Given the description of an element on the screen output the (x, y) to click on. 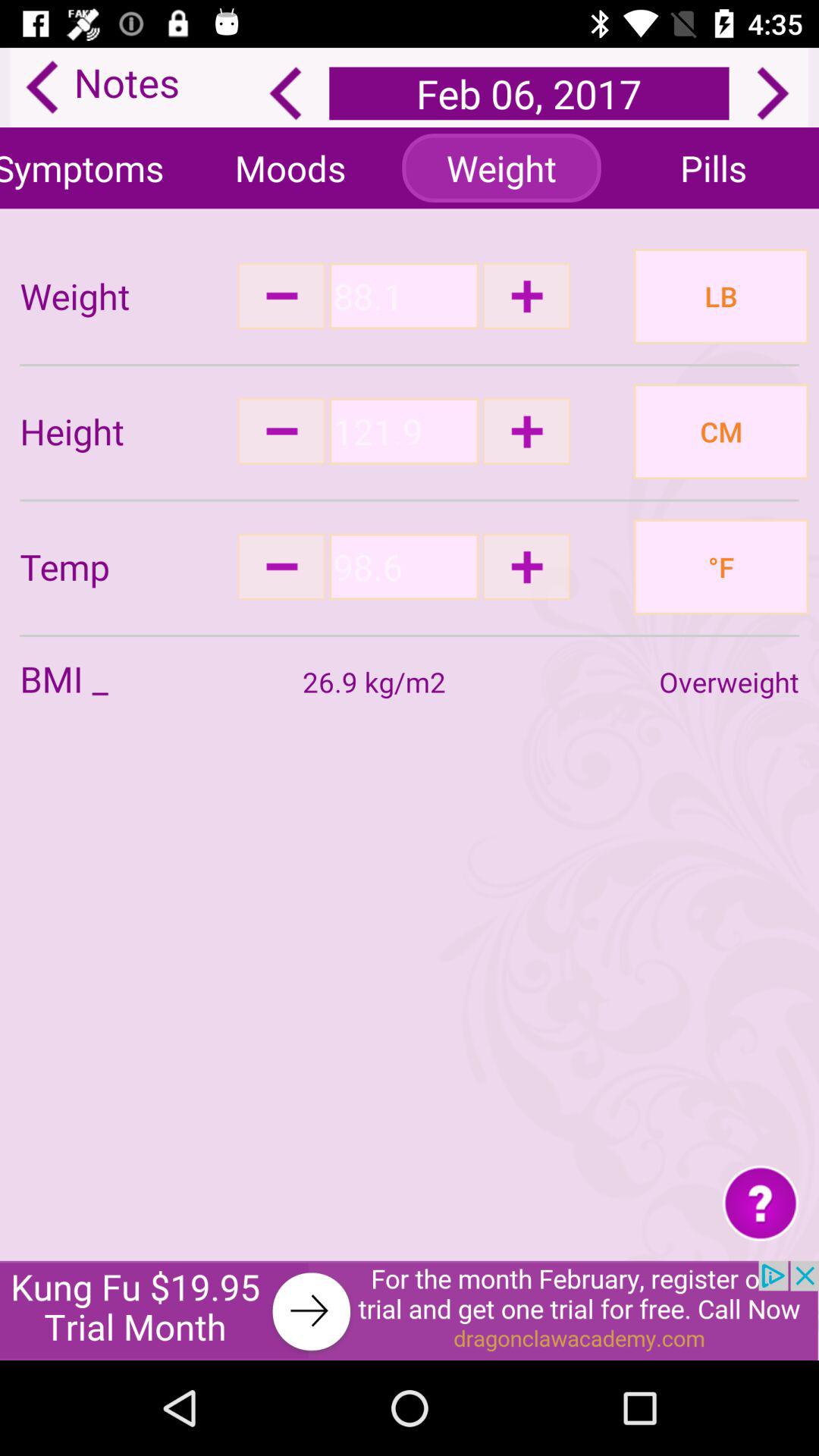
decrease weight informed (281, 295)
